Given the description of an element on the screen output the (x, y) to click on. 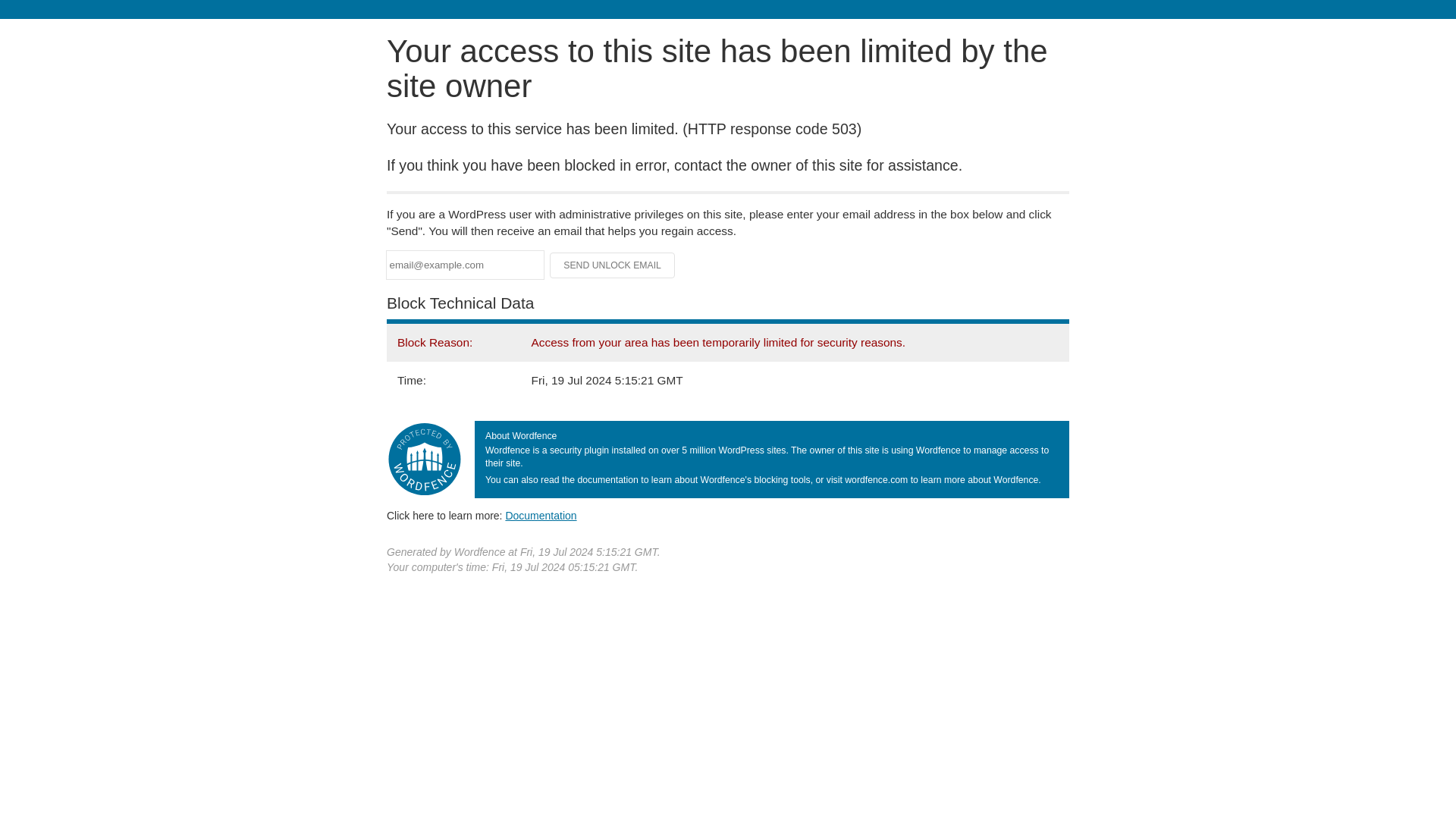
Documentation (540, 515)
Send Unlock Email (612, 265)
Send Unlock Email (612, 265)
